Given the description of an element on the screen output the (x, y) to click on. 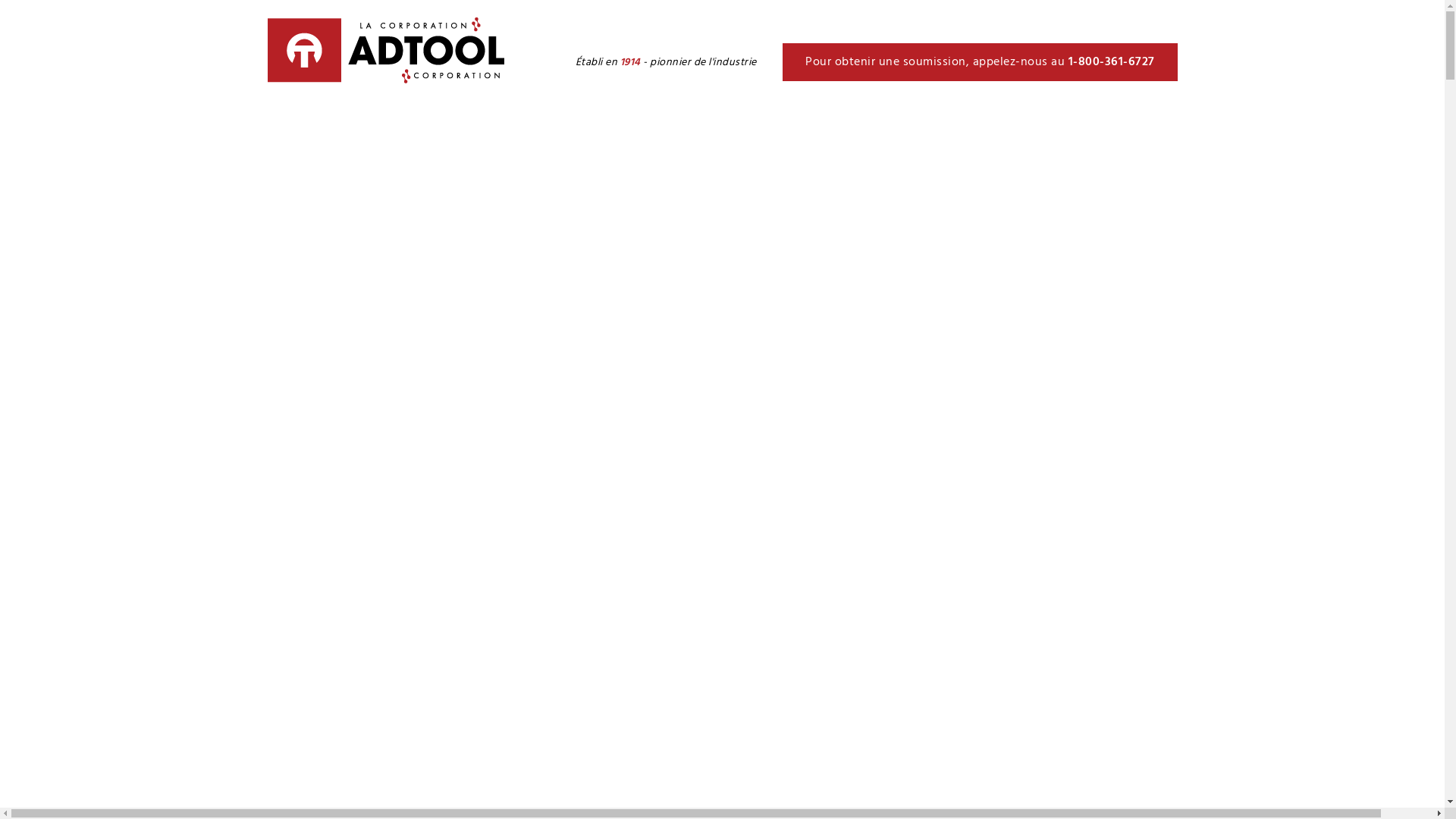
MACHINES POUR LA MANUTENTION DE PCB Element type: text (440, 157)
Pour obtenir une soumission, appelez-nous au 1-800-361-6727 Element type: text (979, 62)
